Given the description of an element on the screen output the (x, y) to click on. 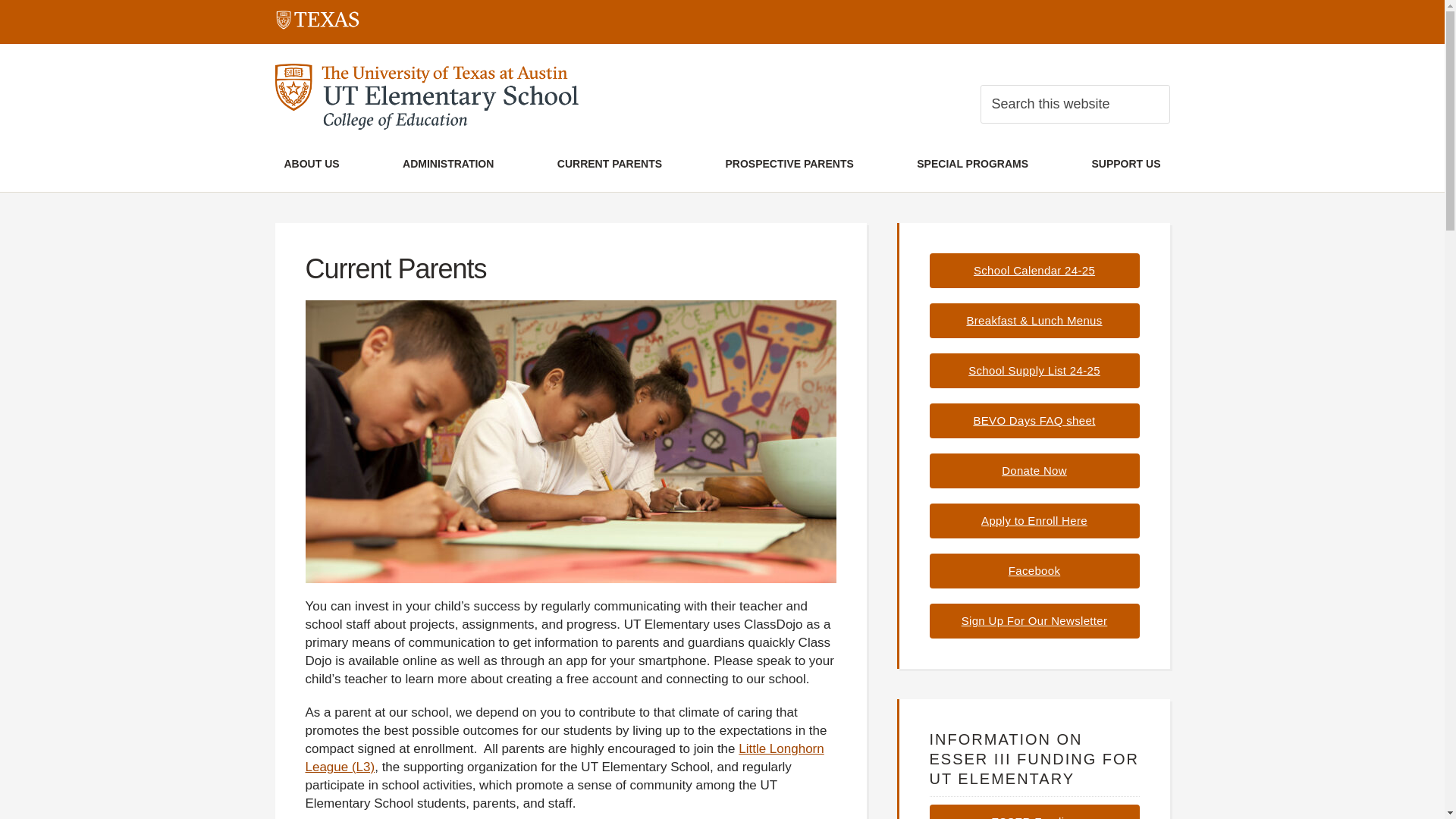
ADMINISTRATION (448, 165)
SPECIAL PROGRAMS (972, 165)
SUPPORT US (1126, 165)
The University of Texas at Austin (317, 22)
ABOUT US (311, 165)
CURRENT PARENTS (608, 165)
PROSPECTIVE PARENTS (788, 165)
